Given the description of an element on the screen output the (x, y) to click on. 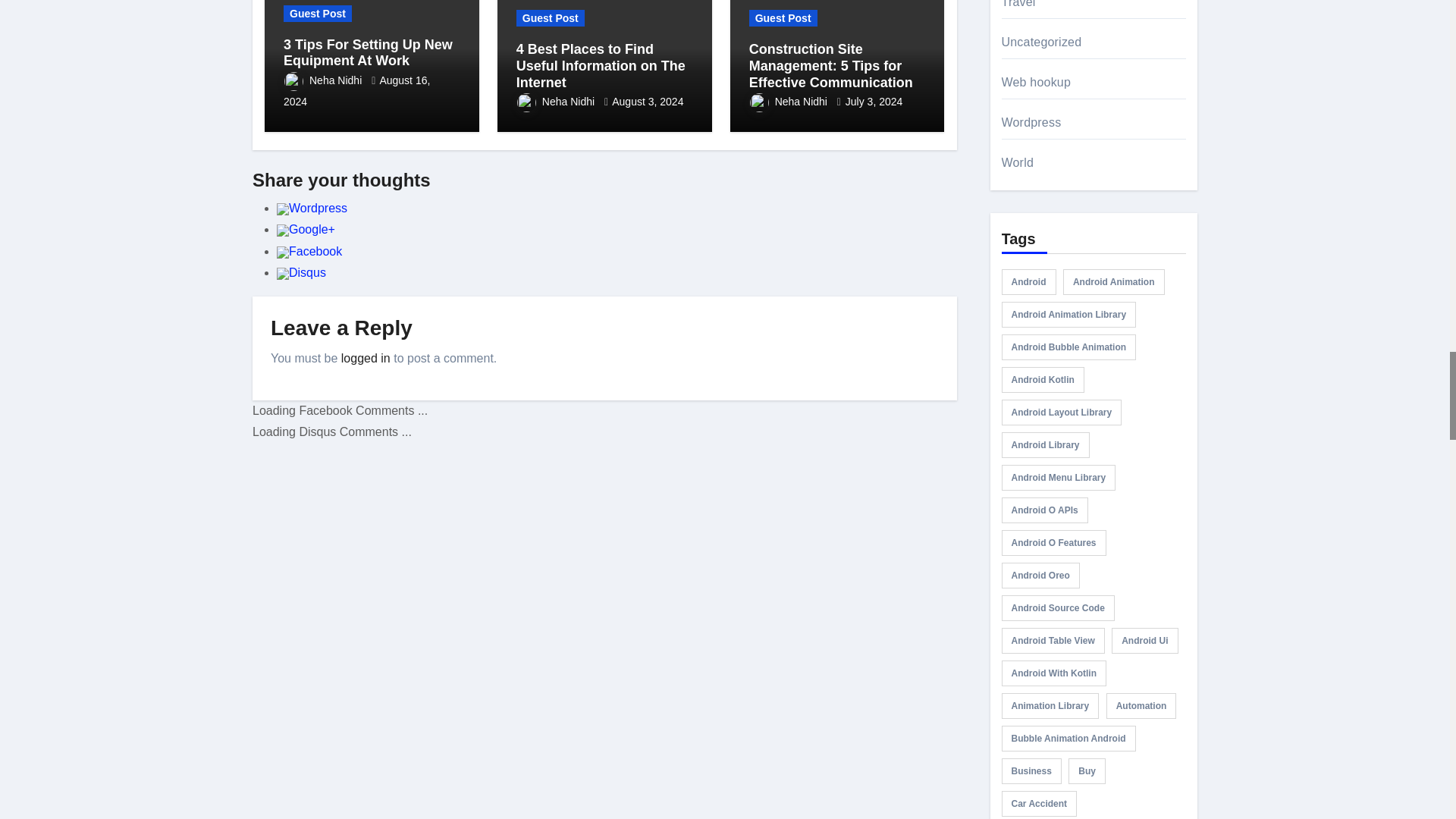
Permalink to: 3 Tips For Setting Up New Equipment At Work (367, 52)
